Given the description of an element on the screen output the (x, y) to click on. 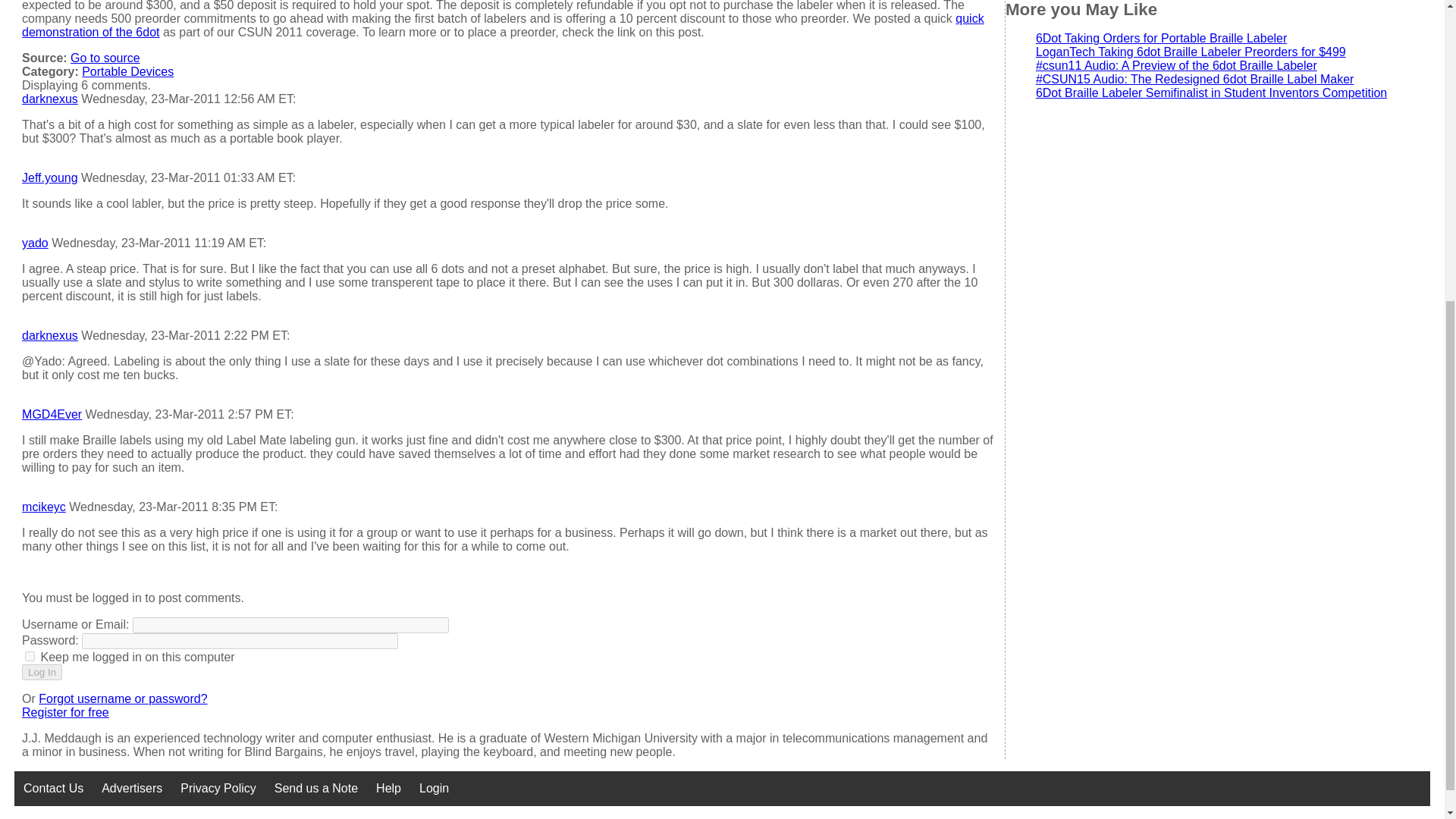
Forgot username or password? (122, 698)
yado (34, 242)
Help (388, 788)
password (239, 641)
Privacy Policy (217, 788)
Contact Us (53, 788)
Log In (41, 672)
Keep me logged in on this computer (29, 655)
darknexus (49, 98)
MGD4Ever (51, 413)
Jeff.young (49, 177)
Send us a Note (315, 788)
Portable Devices (127, 71)
on (29, 655)
Register for free (65, 712)
